Given the description of an element on the screen output the (x, y) to click on. 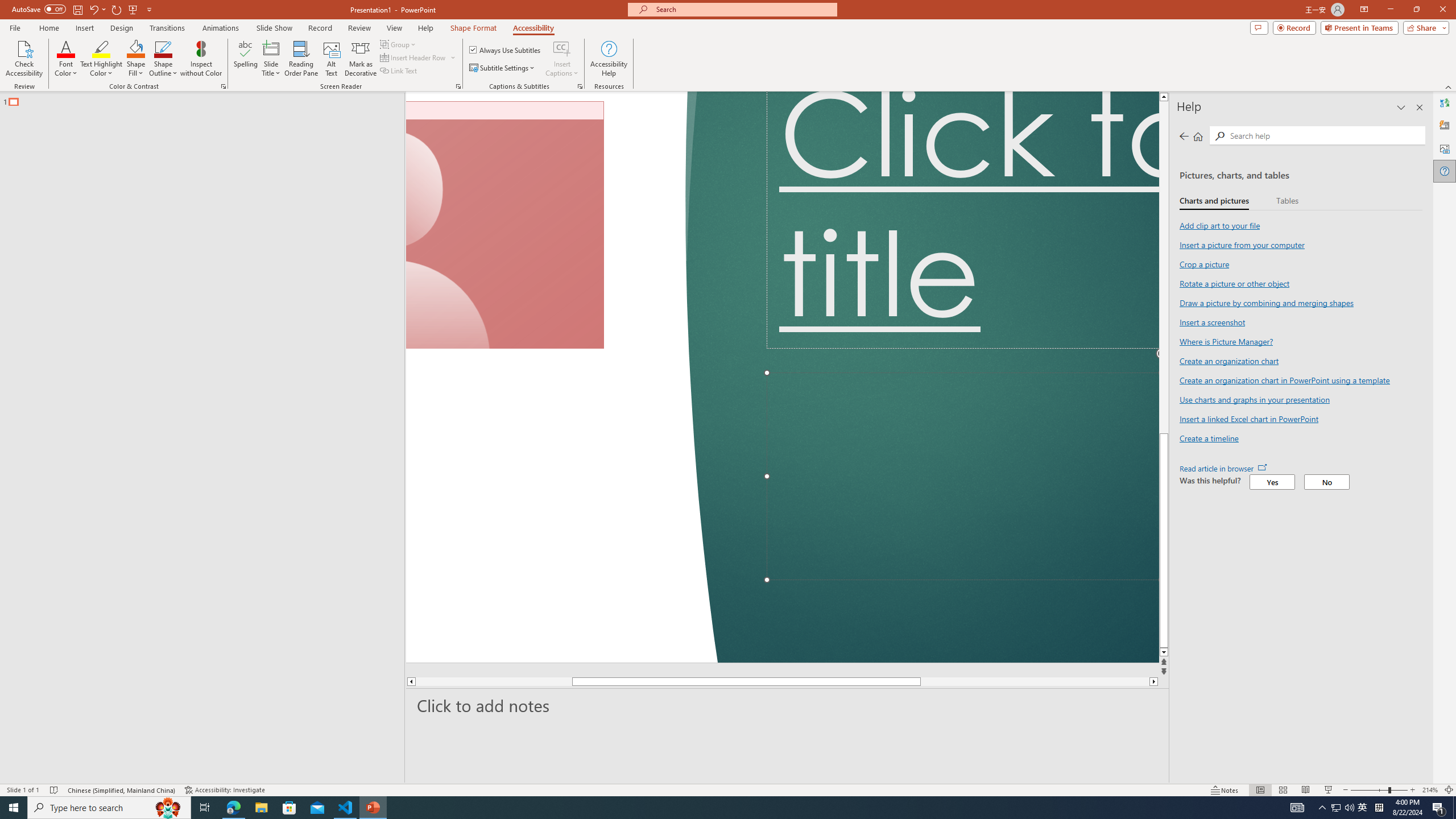
Accessibility Help (608, 58)
No (1326, 481)
Link Text (399, 69)
